Given the description of an element on the screen output the (x, y) to click on. 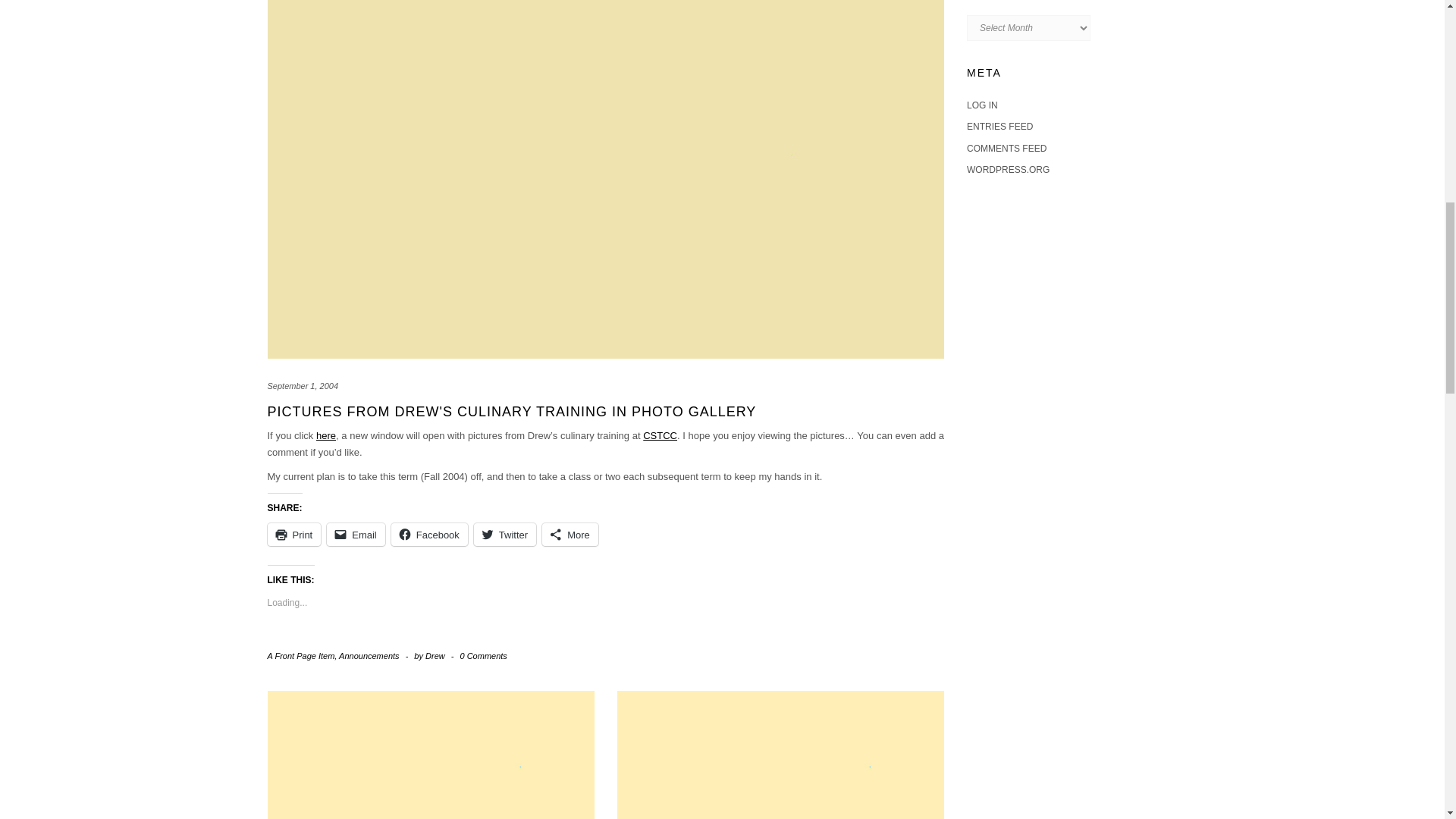
PICTURES FROM DREW'S CULINARY TRAINING IN PHOTO GALLERY (510, 411)
here (325, 435)
Print (293, 534)
CSTCC (660, 435)
Pictures from Drew's Culinary Training in Photo Gallery (510, 411)
September 1, 2004 (301, 385)
